Given the description of an element on the screen output the (x, y) to click on. 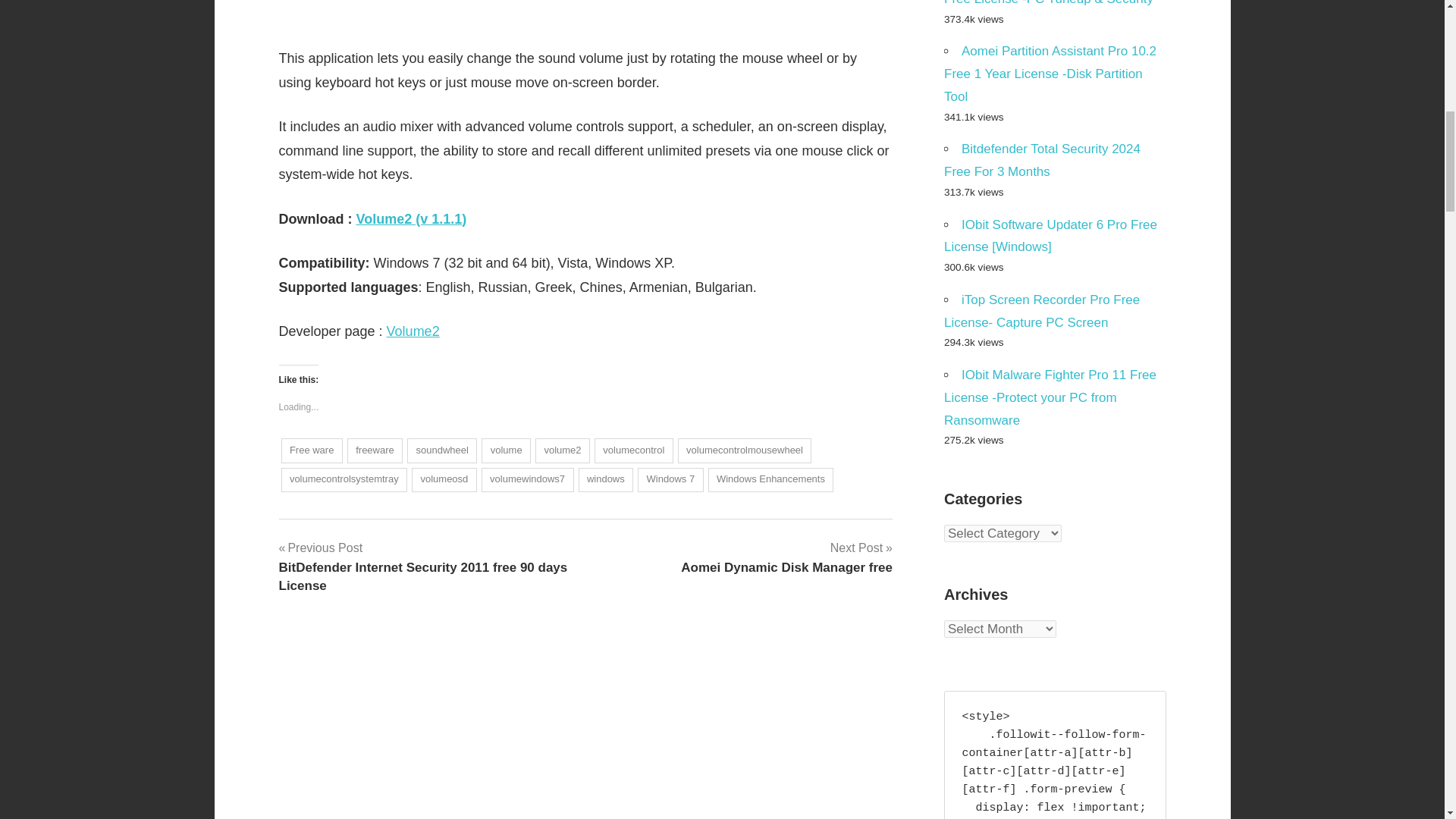
volumeosd (444, 479)
volumecontrolsystemtray (344, 479)
freeware (375, 450)
volumewindows7 (527, 479)
volumecontrolmousewheel (745, 450)
Volume2 (413, 331)
Windows Enhancements (770, 479)
soundwheel (442, 450)
volumecontrol (633, 450)
Free ware (311, 450)
